Given the description of an element on the screen output the (x, y) to click on. 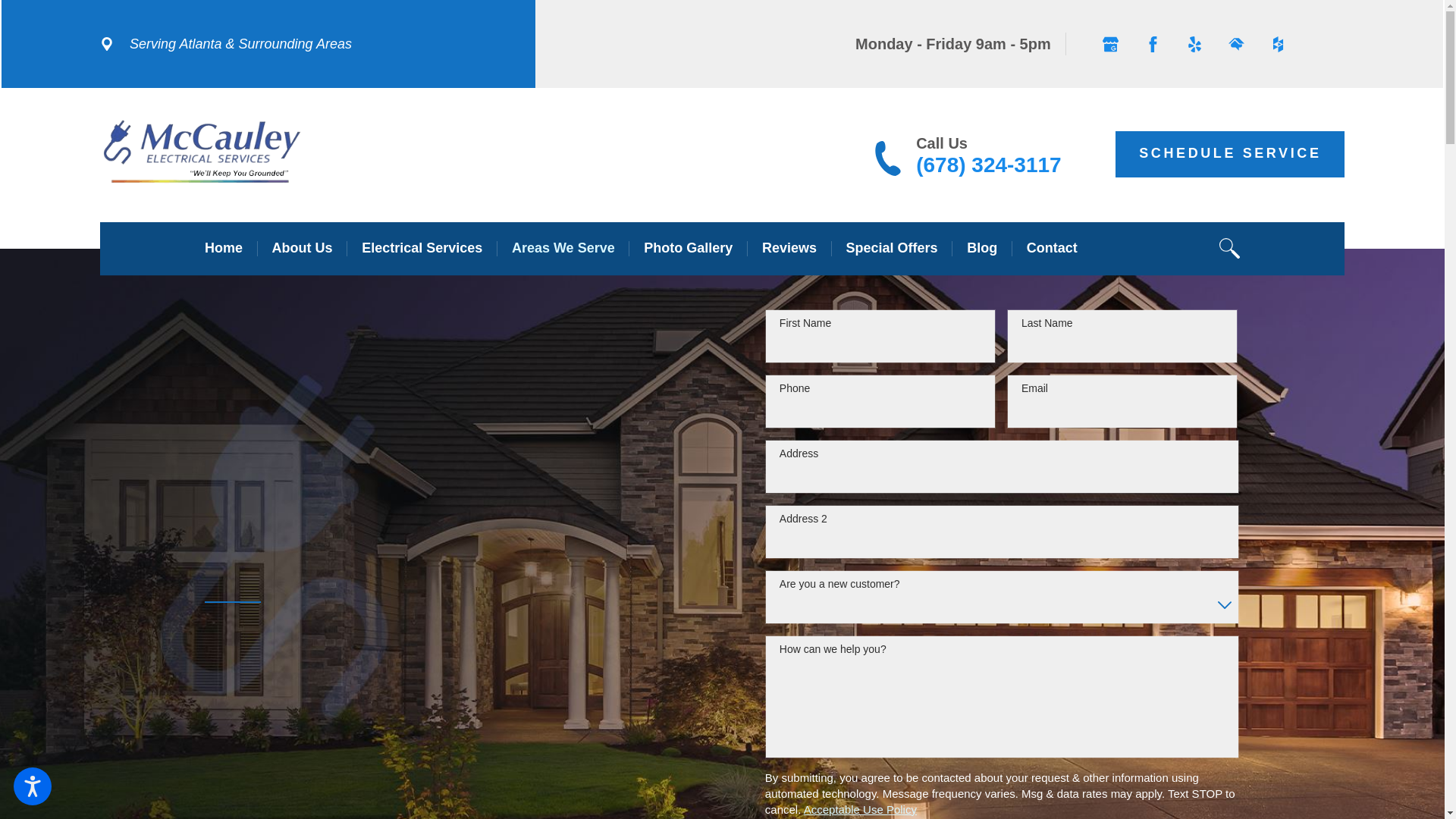
McCauley Electrical Services (202, 153)
Photo Gallery (687, 248)
SCHEDULE SERVICE (1229, 153)
Google Business Profile (1110, 43)
HomeAdvisor (1235, 43)
Open the accessibility options menu (31, 786)
Yelp (1194, 43)
Home (224, 248)
Houzz (1277, 43)
Facebook (1152, 43)
